Given the description of an element on the screen output the (x, y) to click on. 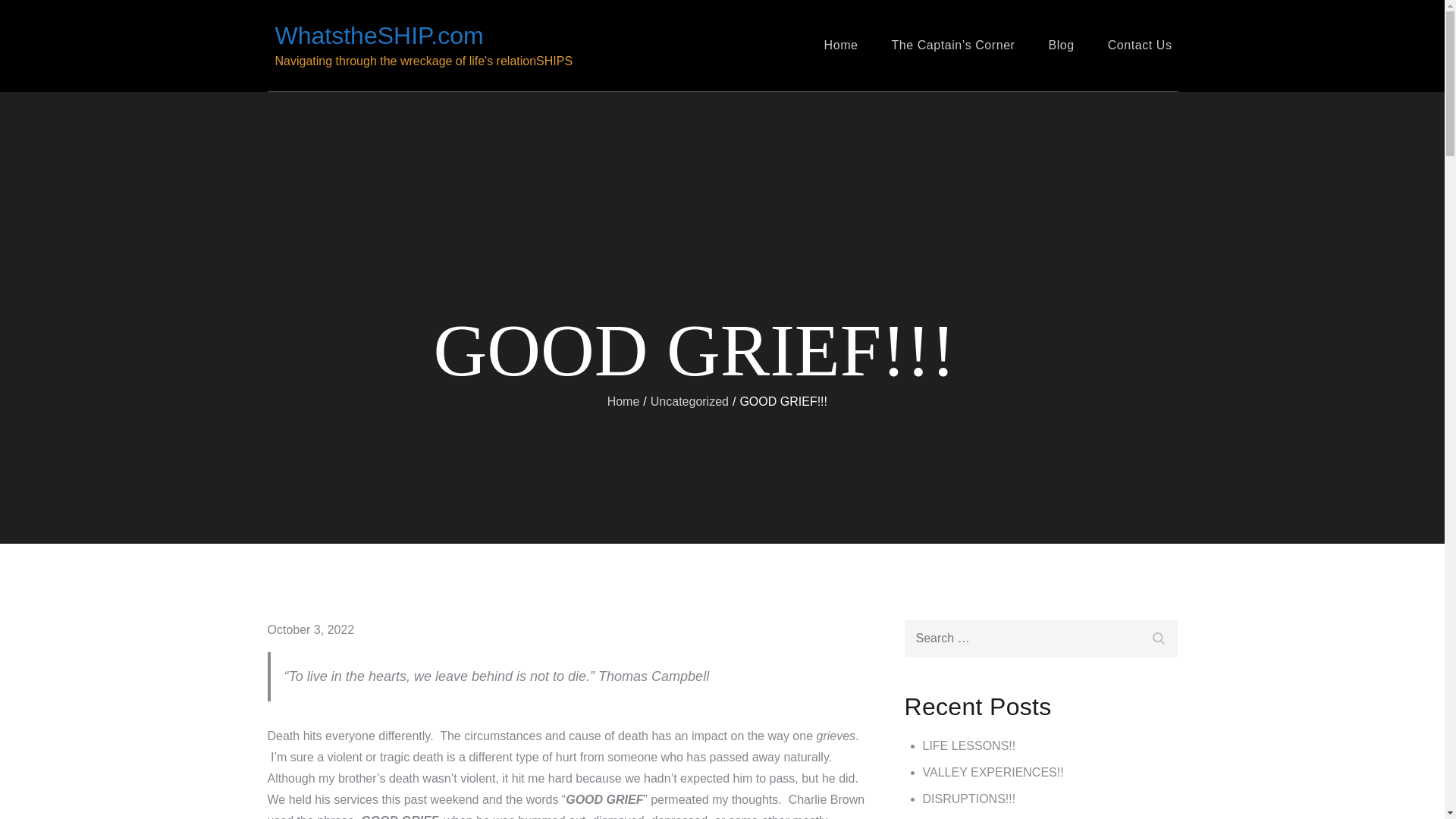
WhatstheSHIP.com (379, 35)
Home (623, 400)
VALLEY EXPERIENCES!! (991, 771)
October 3, 2022 (309, 629)
Search (1157, 636)
Uncategorized (689, 400)
LIFE LESSONS!! (967, 745)
